Given the description of an element on the screen output the (x, y) to click on. 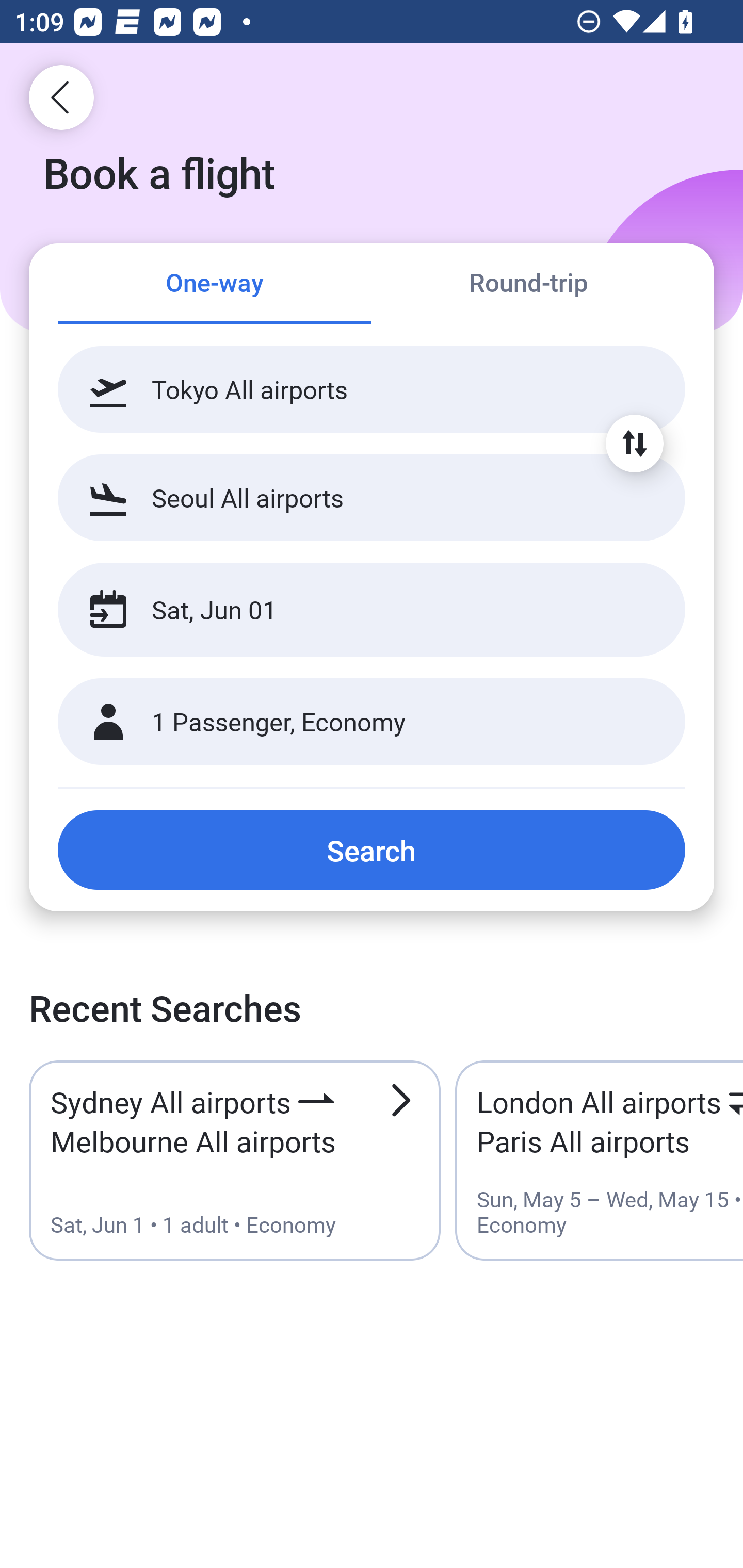
Round-trip (528, 284)
Tokyo All airports (371, 389)
Seoul All airports (371, 497)
Sat, Jun 01 (349, 609)
1 Passenger, Economy (371, 721)
Search (371, 849)
